Given the description of an element on the screen output the (x, y) to click on. 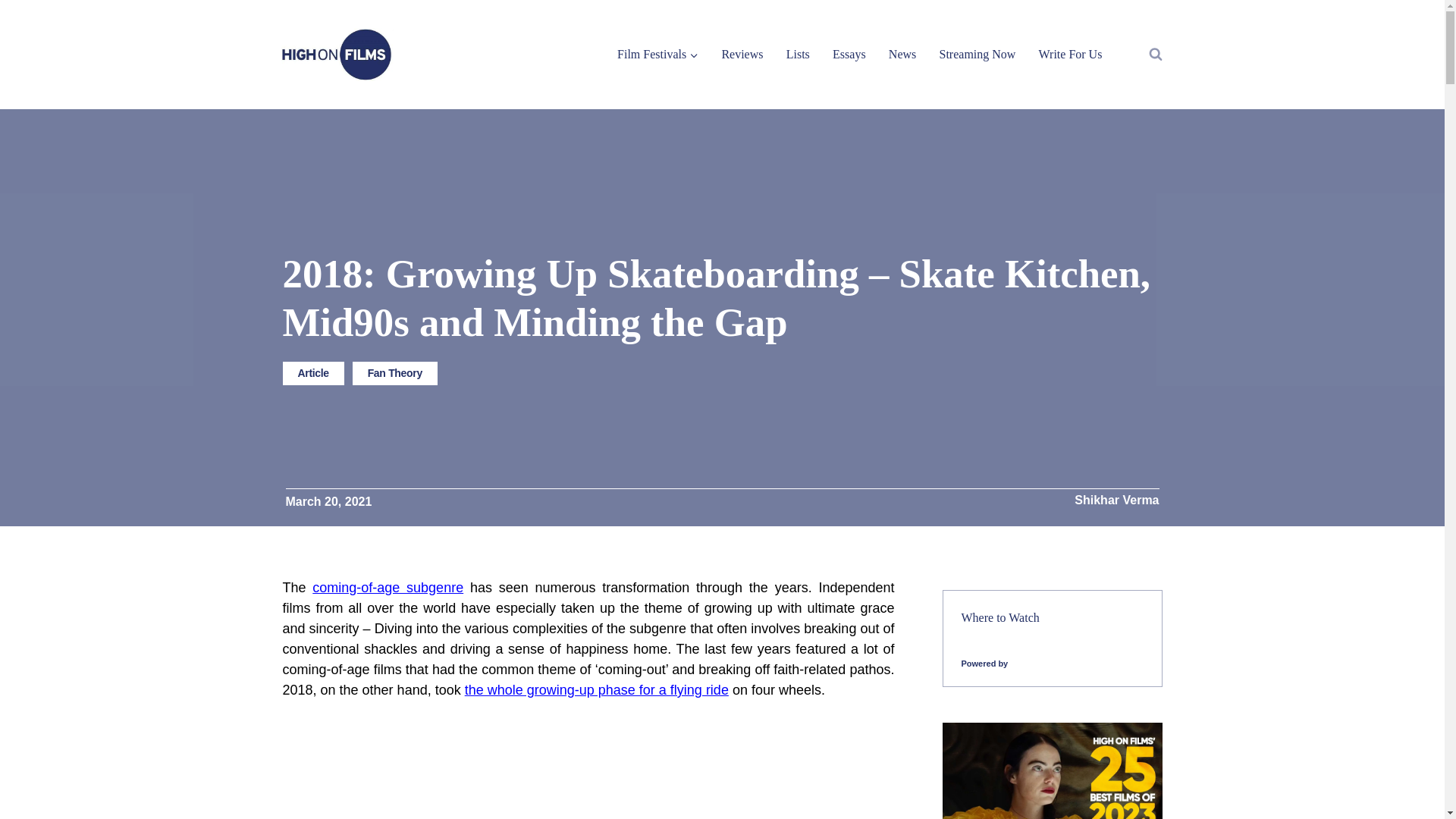
Shikhar Verma (1116, 499)
Essays (849, 53)
Article (312, 372)
Write For Us (1069, 53)
coming-of-age subgenre (388, 587)
the whole growing-up phase for a flying ride (596, 689)
News (902, 53)
Film Festivals (657, 53)
Fan Theory (395, 372)
Reviews (742, 53)
